Given the description of an element on the screen output the (x, y) to click on. 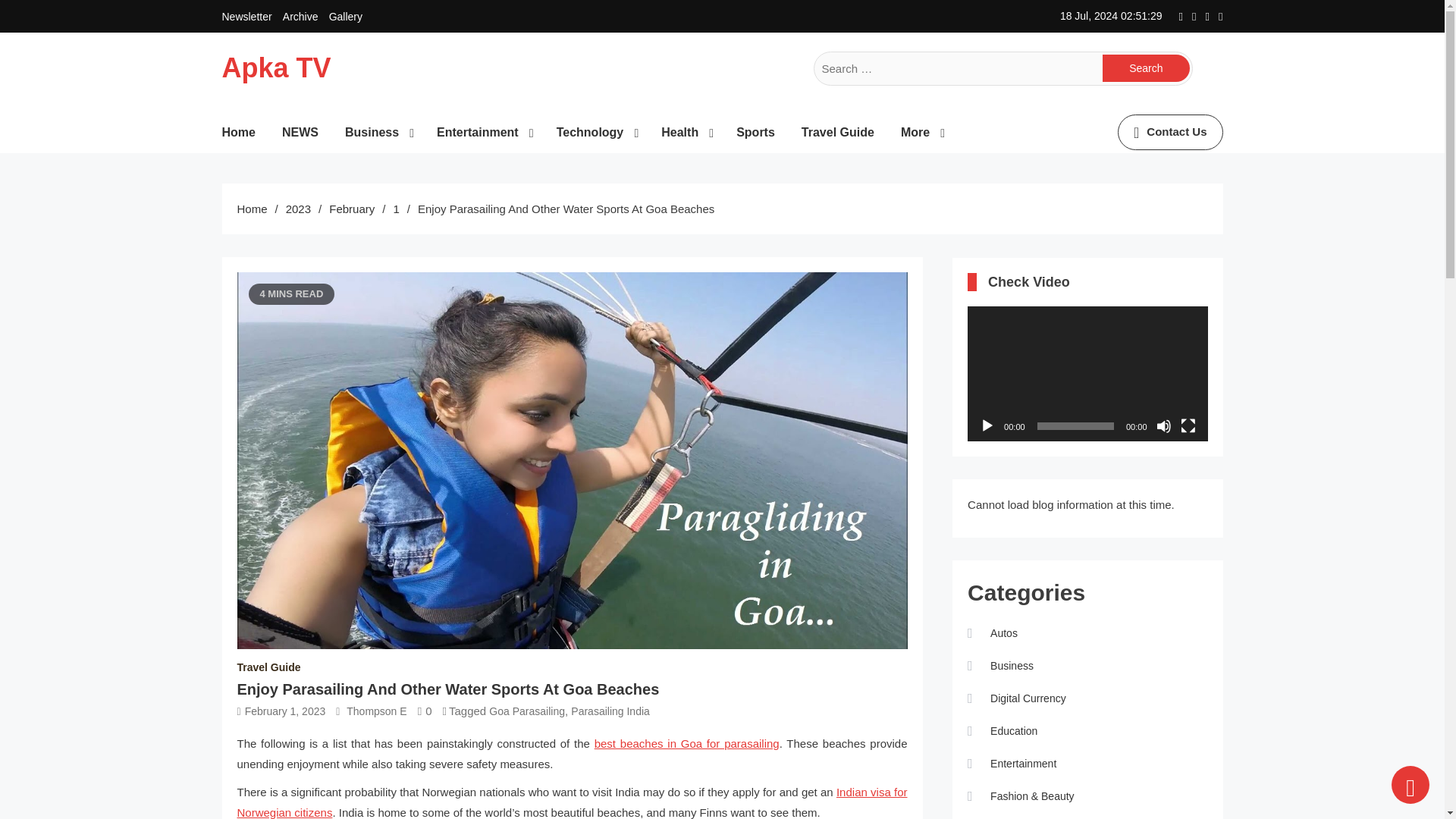
More (926, 132)
Gallery (345, 16)
Play (986, 426)
Health (690, 132)
Search (1145, 67)
Search (1145, 67)
NEWS (306, 132)
Business (383, 132)
Home (243, 132)
Apka TV (275, 67)
Travel Guide (843, 132)
Technology (601, 132)
Sports (761, 132)
Fullscreen (1187, 426)
Archive (300, 16)
